Given the description of an element on the screen output the (x, y) to click on. 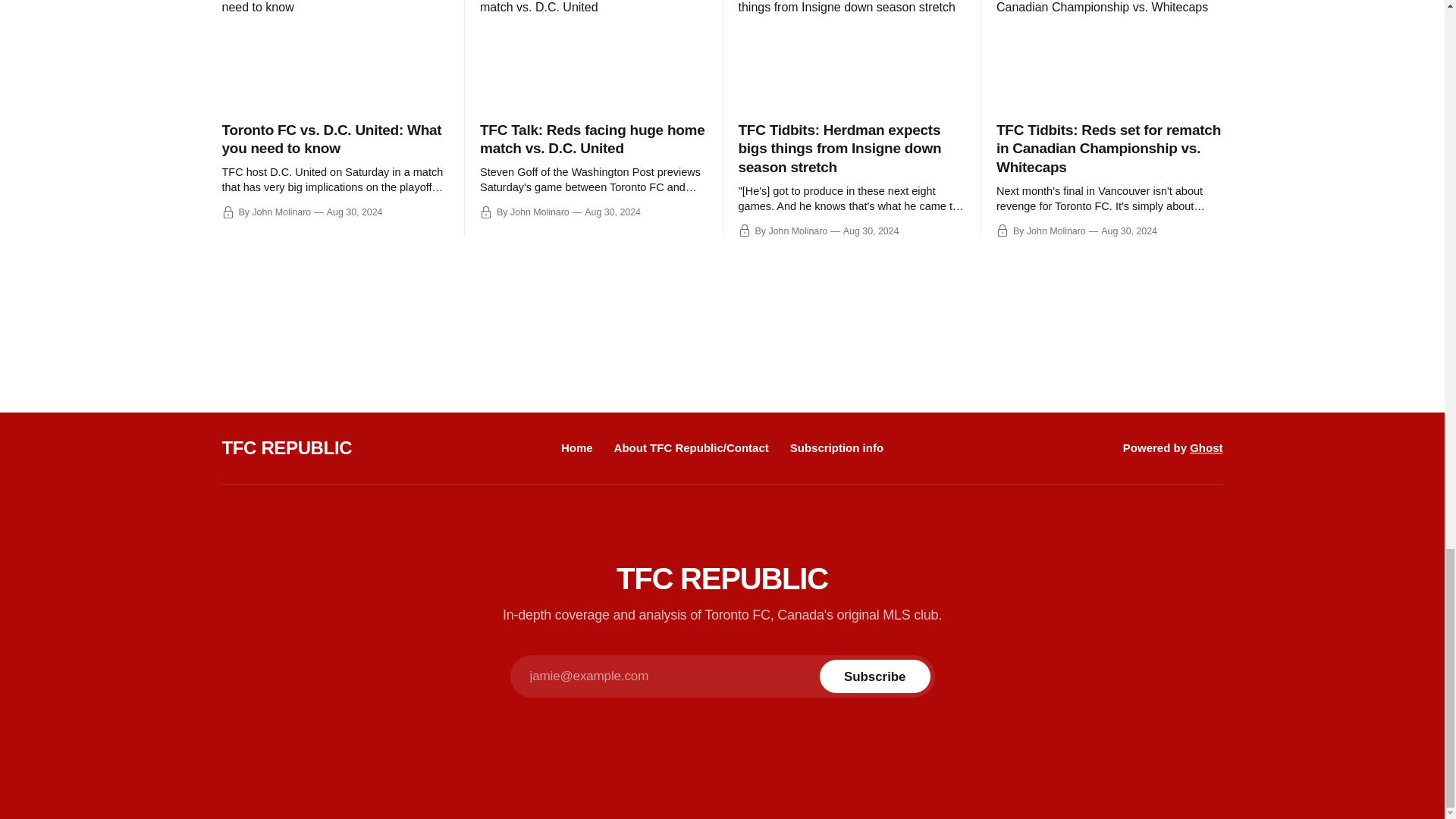
Ghost (1206, 447)
Subscribe (874, 676)
Home (576, 447)
Subscription info (836, 447)
